Given the description of an element on the screen output the (x, y) to click on. 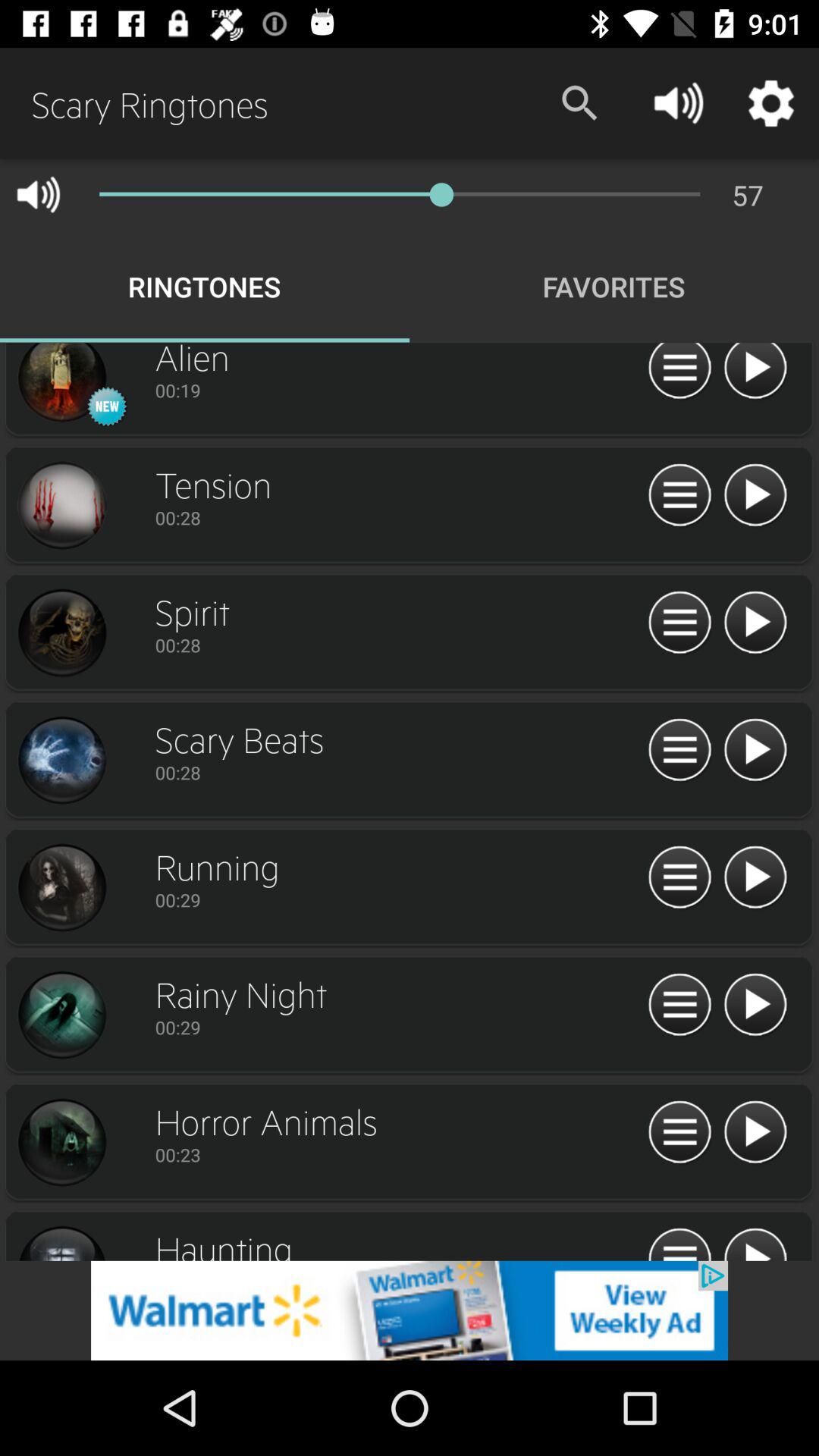
open menu (679, 495)
